Given the description of an element on the screen output the (x, y) to click on. 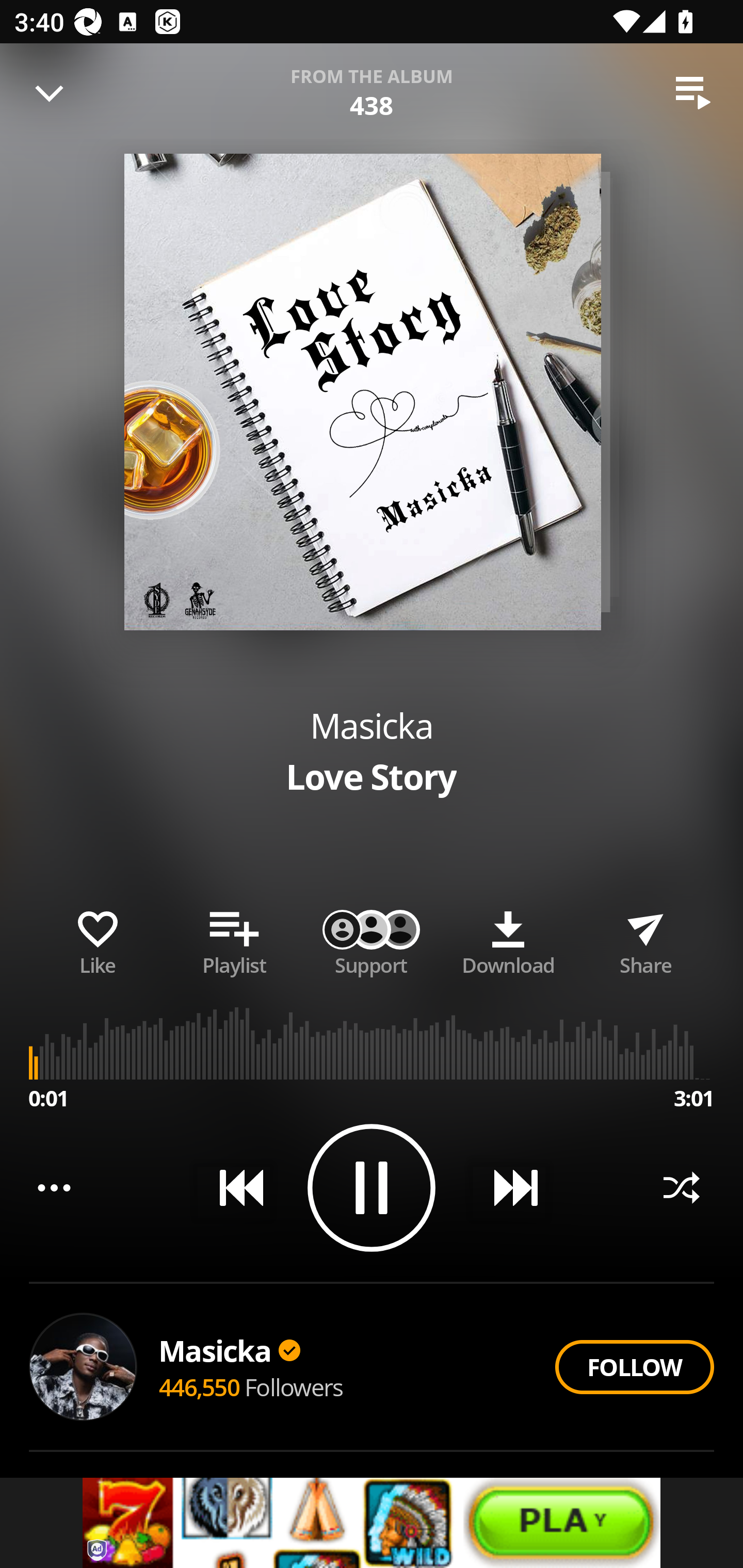
Love Story Cancel (371, 82)
Minimise player (49, 93)
Queue (693, 93)
Album art (362, 391)
Masicka (371, 724)
Like (97, 939)
Add song to playlist Playlist (234, 939)
Support (371, 939)
Download (507, 939)
Share (645, 939)
Play/Pause (371, 1187)
Previous song (233, 1187)
Next song (508, 1187)
Masicka (229, 1350)
FOLLOW Follow (634, 1366)
446,550 (199, 1386)
Liftoff Privacy (97, 1550)
